Given the description of an element on the screen output the (x, y) to click on. 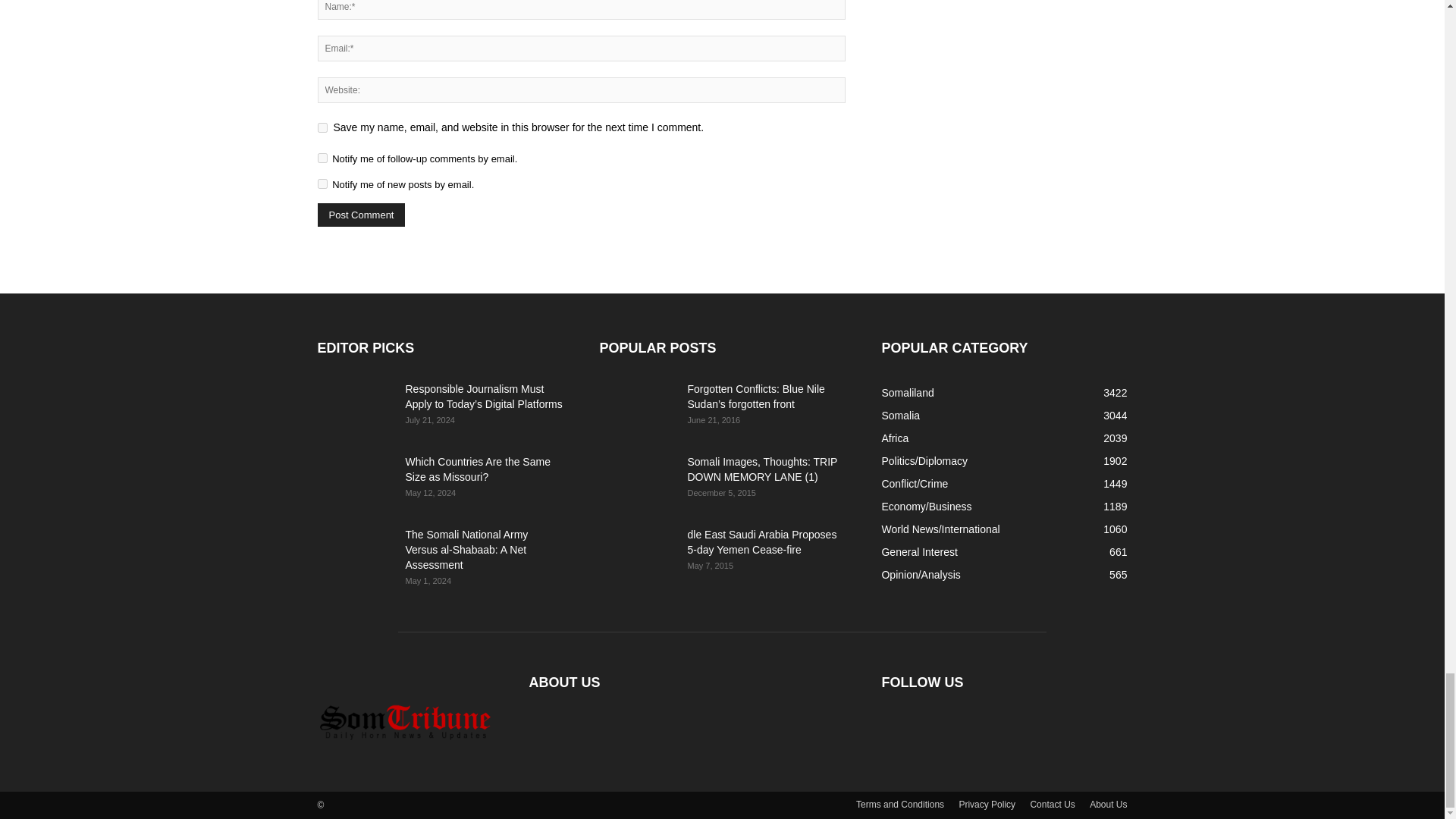
yes (321, 127)
Post Comment (360, 214)
subscribe (321, 184)
subscribe (321, 157)
